Given the description of an element on the screen output the (x, y) to click on. 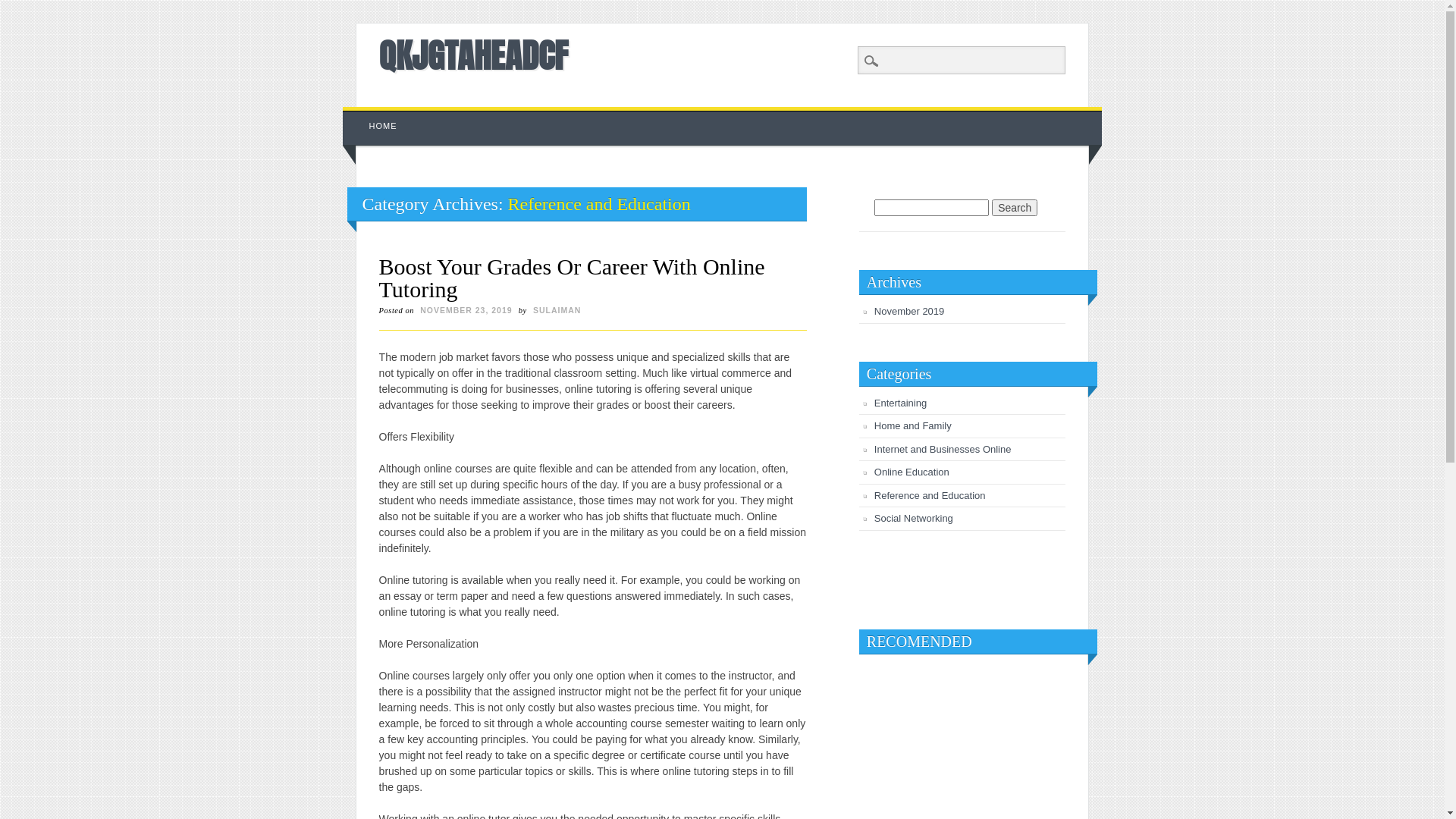
Skip to content Element type: text (377, 114)
Online Education Element type: text (911, 471)
Reference and Education Element type: text (929, 495)
Social Networking Element type: text (913, 518)
November 2019 Element type: text (909, 310)
Search Element type: text (1014, 207)
NOVEMBER 23, 2019 Element type: text (465, 309)
Home and Family Element type: text (912, 425)
Search Element type: text (22, 8)
Internet and Businesses Online Element type: text (942, 449)
HOME Element type: text (383, 125)
SULAIMAN Element type: text (556, 309)
Entertaining Element type: text (900, 402)
Boost Your Grades Or Career With Online Tutoring Element type: text (572, 277)
QKJGTAHEADCF Element type: text (473, 55)
